Given the description of an element on the screen output the (x, y) to click on. 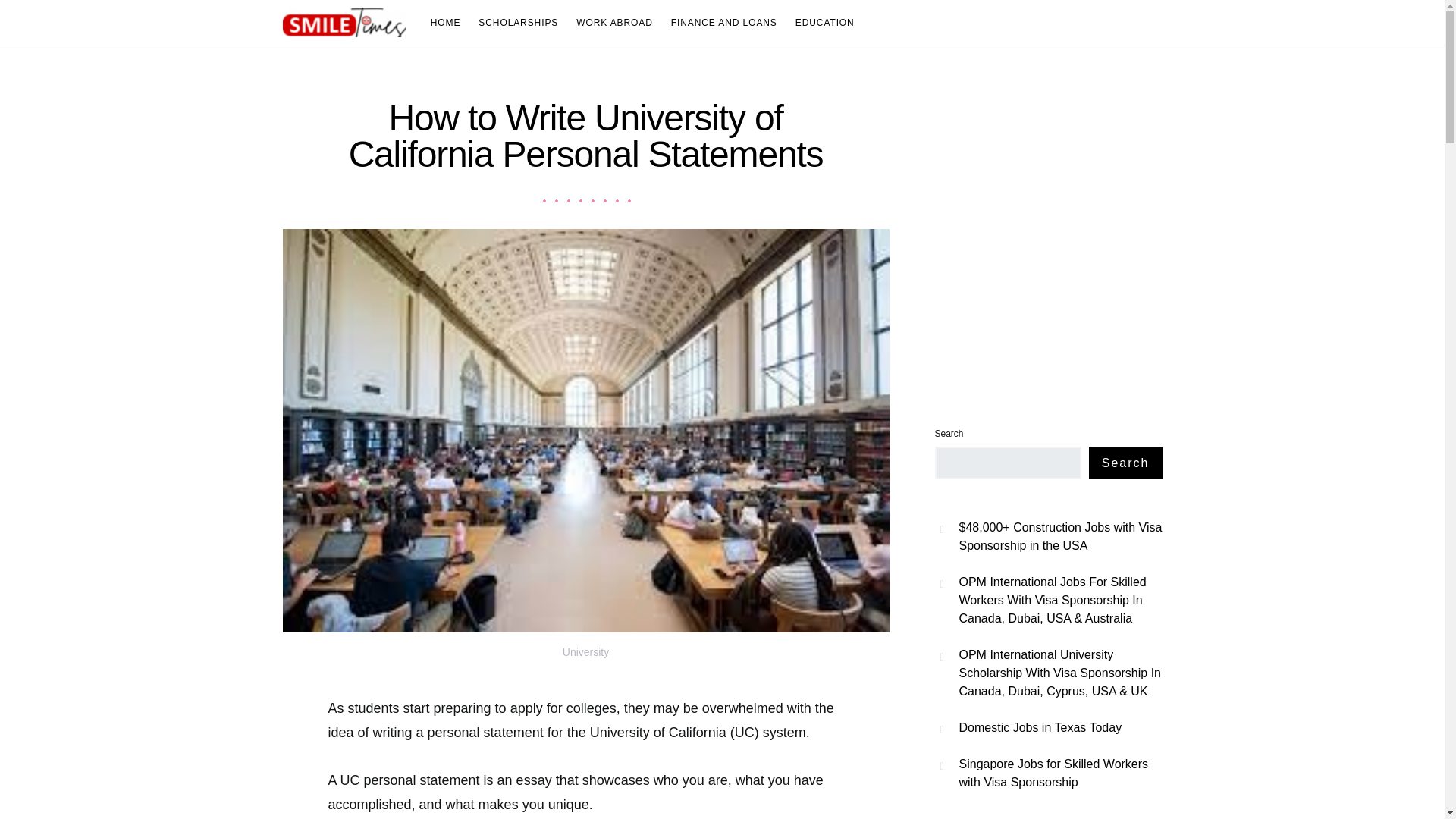
SCHOLARSHIPS (517, 22)
FINANCE AND LOANS (724, 22)
EDUCATION (820, 22)
WORK ABROAD (614, 22)
